Given the description of an element on the screen output the (x, y) to click on. 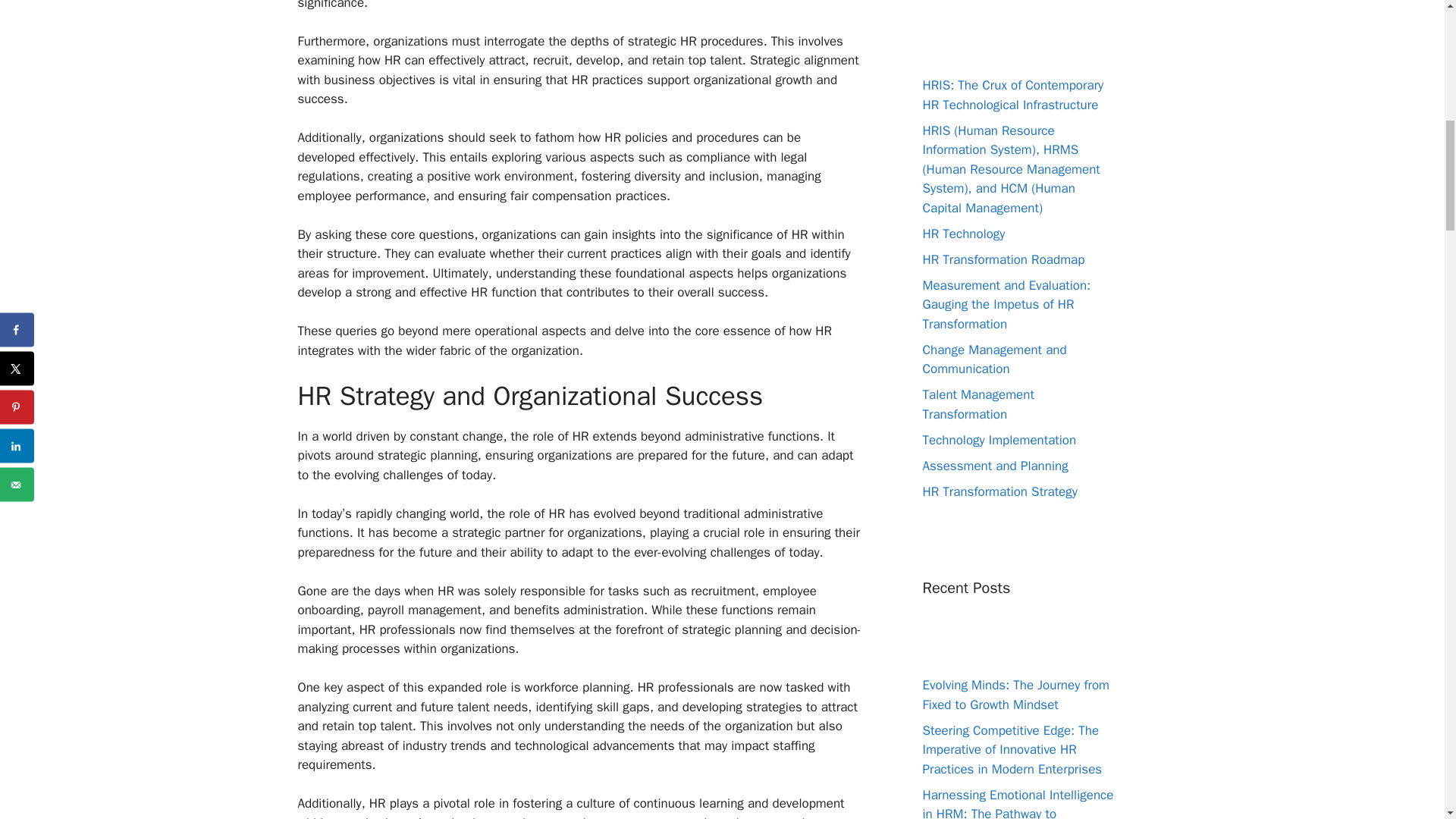
Technology Implementation (998, 439)
HR Transformation Roadmap (1002, 259)
Talent Management Transformation (977, 404)
Change Management and Communication (993, 358)
Evolving Minds: The Journey from Fixed to Growth Mindset (1015, 694)
HR Transformation Strategy (999, 491)
Assessment and Planning (994, 465)
